Given the description of an element on the screen output the (x, y) to click on. 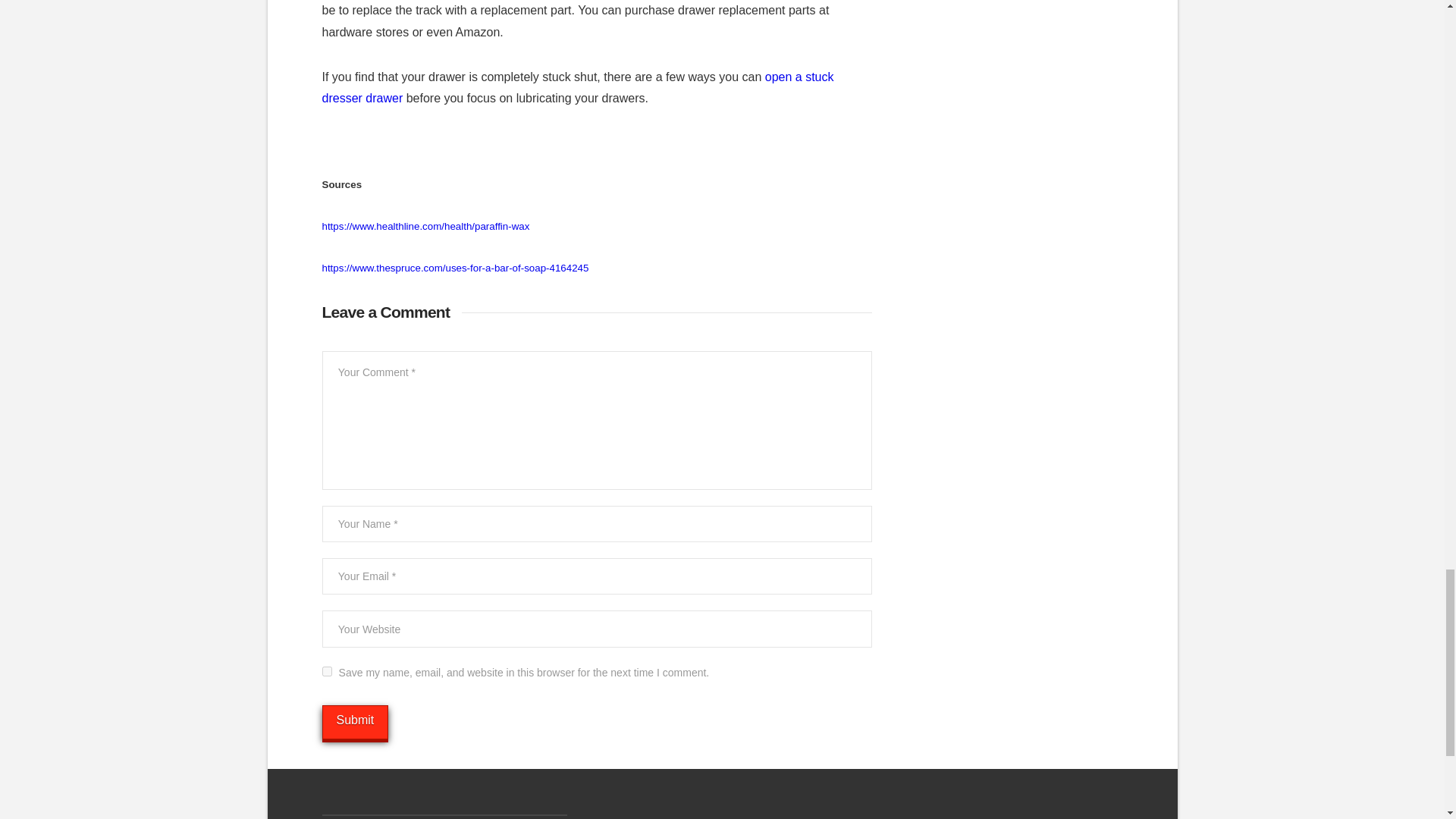
Submit (354, 722)
Submit (354, 722)
yes (326, 671)
open a stuck dresser drawer (576, 87)
